Given the description of an element on the screen output the (x, y) to click on. 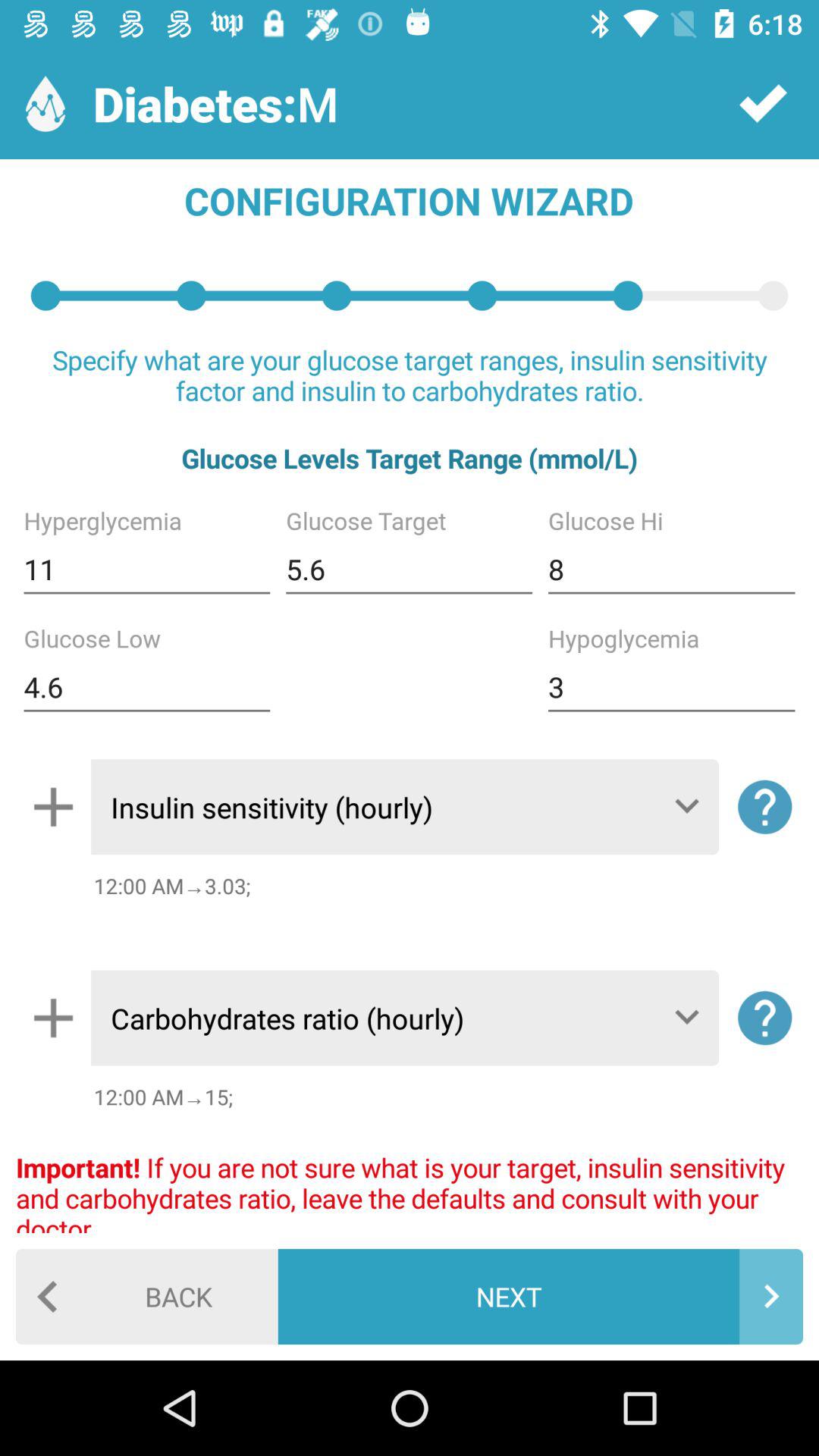
select 8 icon (671, 569)
